Given the description of an element on the screen output the (x, y) to click on. 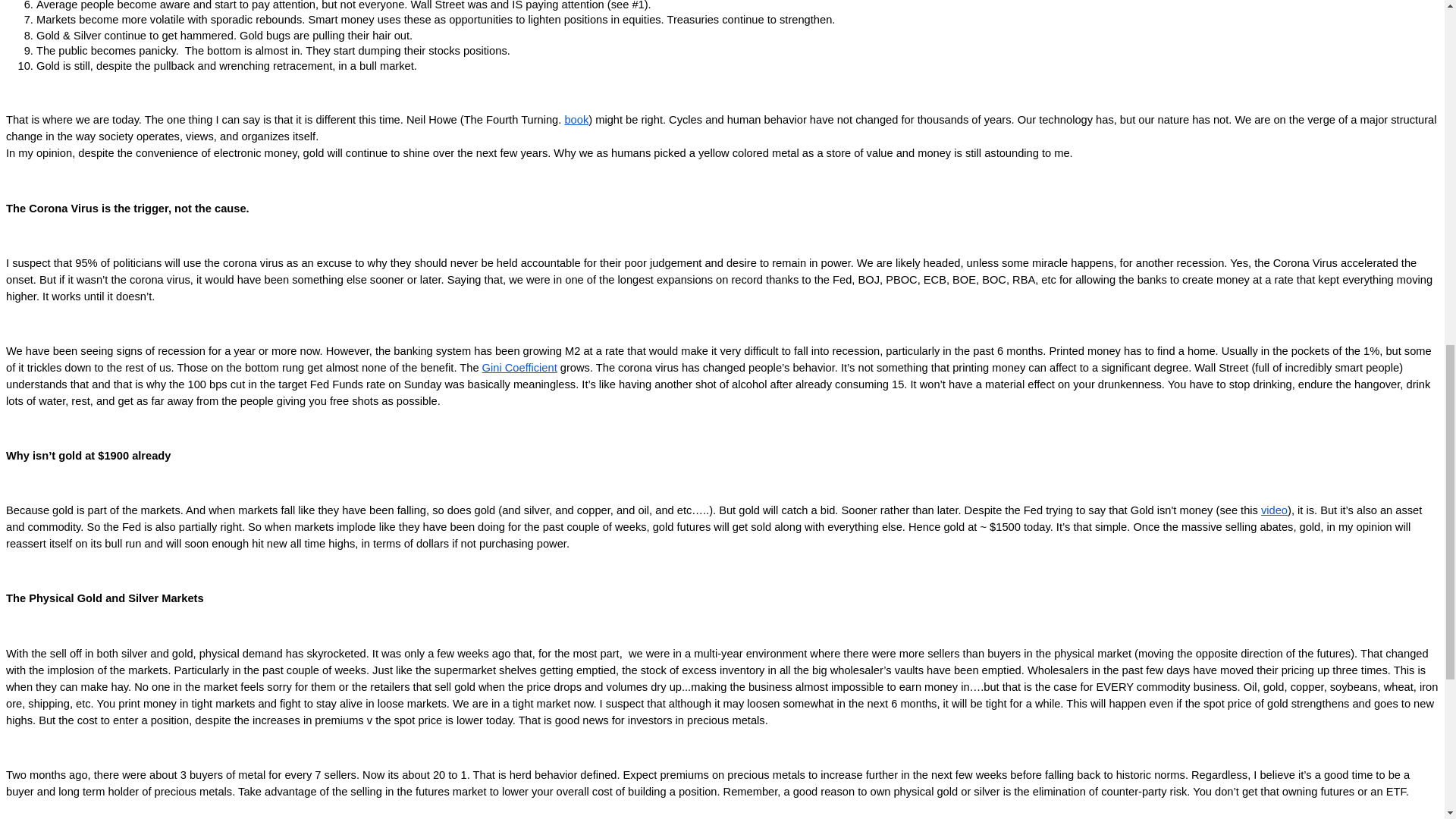
book (576, 119)
video (1273, 509)
Gini Coefficient (519, 367)
